Given the description of an element on the screen output the (x, y) to click on. 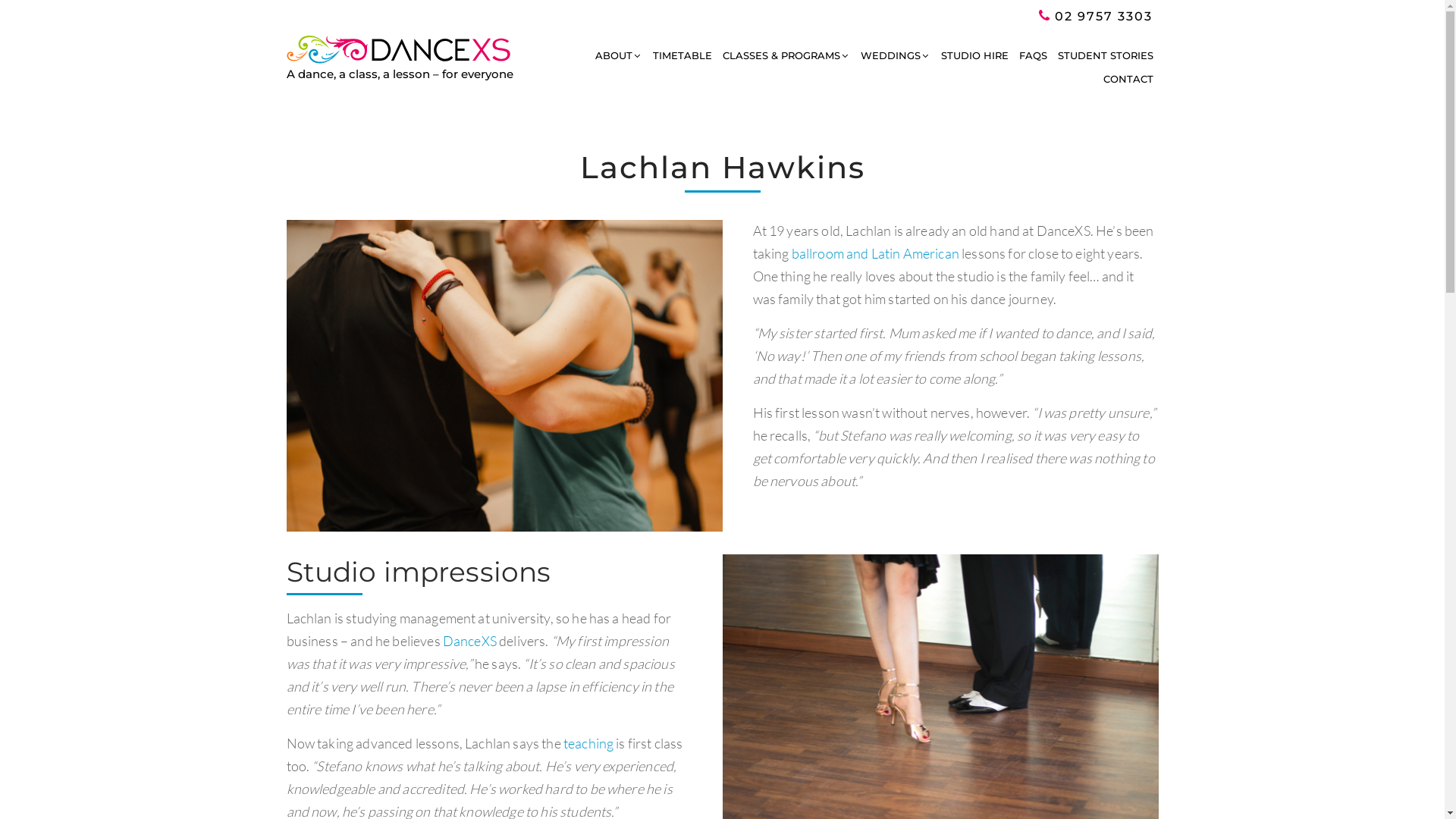
CLASSES & PROGRAMS Element type: text (785, 56)
DXS Young Male And Female Taking Dance Class Element type: hover (504, 375)
DanceXS Element type: text (469, 640)
ABOUT Element type: text (618, 56)
TIMETABLE Element type: text (682, 56)
STUDIO HIRE Element type: text (974, 56)
02 9757 3303 Element type: text (1095, 16)
FAQS Element type: text (1032, 56)
WEDDINGS Element type: text (895, 56)
STUDENT STORIES Element type: text (1105, 56)
ballroom and Latin American Element type: text (875, 252)
teaching Element type: text (588, 742)
CONTACT Element type: text (1128, 79)
